Given the description of an element on the screen output the (x, y) to click on. 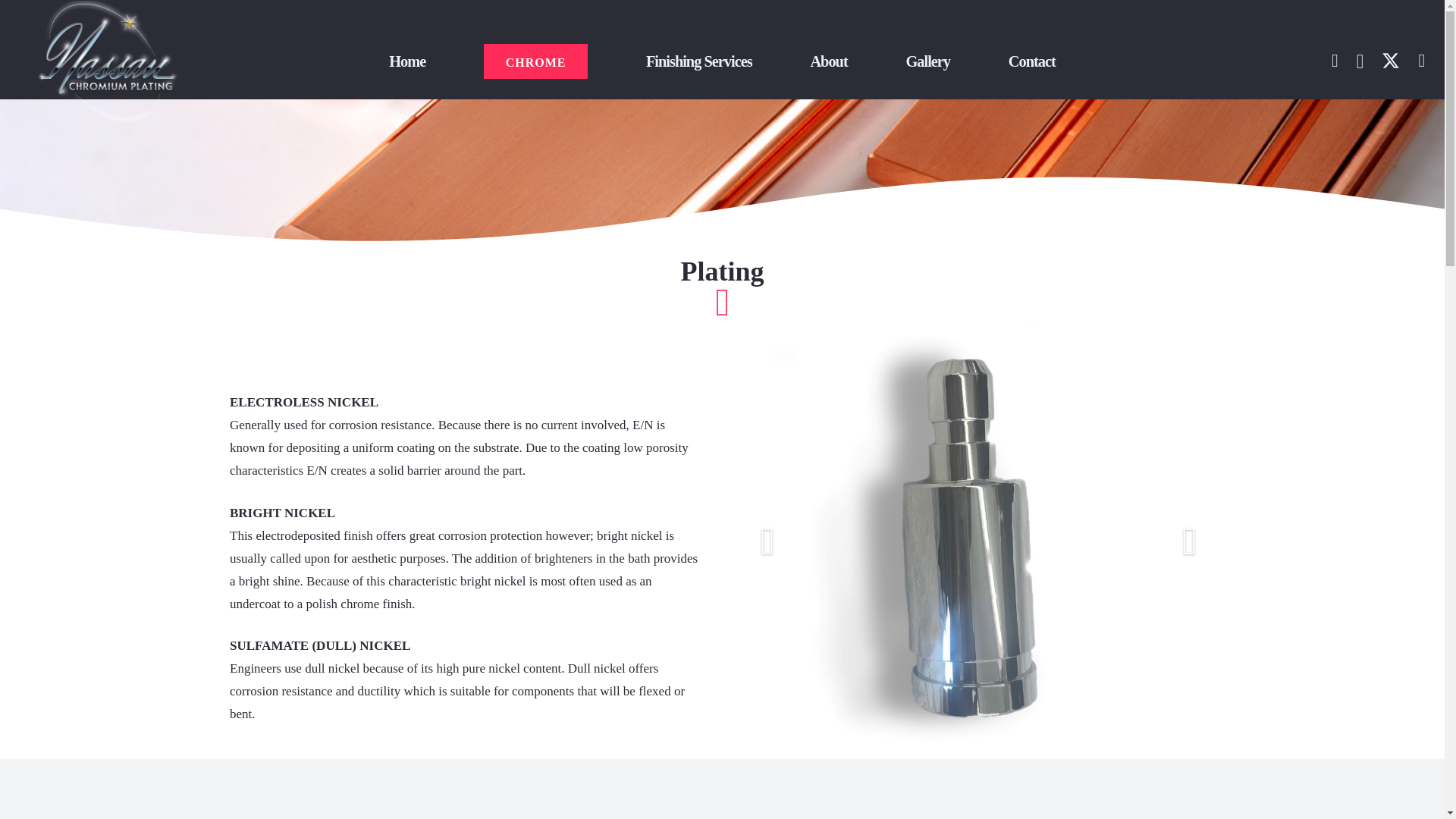
Finishing Services (698, 61)
Twitter (1390, 61)
About (828, 61)
Home (406, 61)
CHROME (535, 61)
Contact (1031, 61)
Gallery (927, 61)
